Given the description of an element on the screen output the (x, y) to click on. 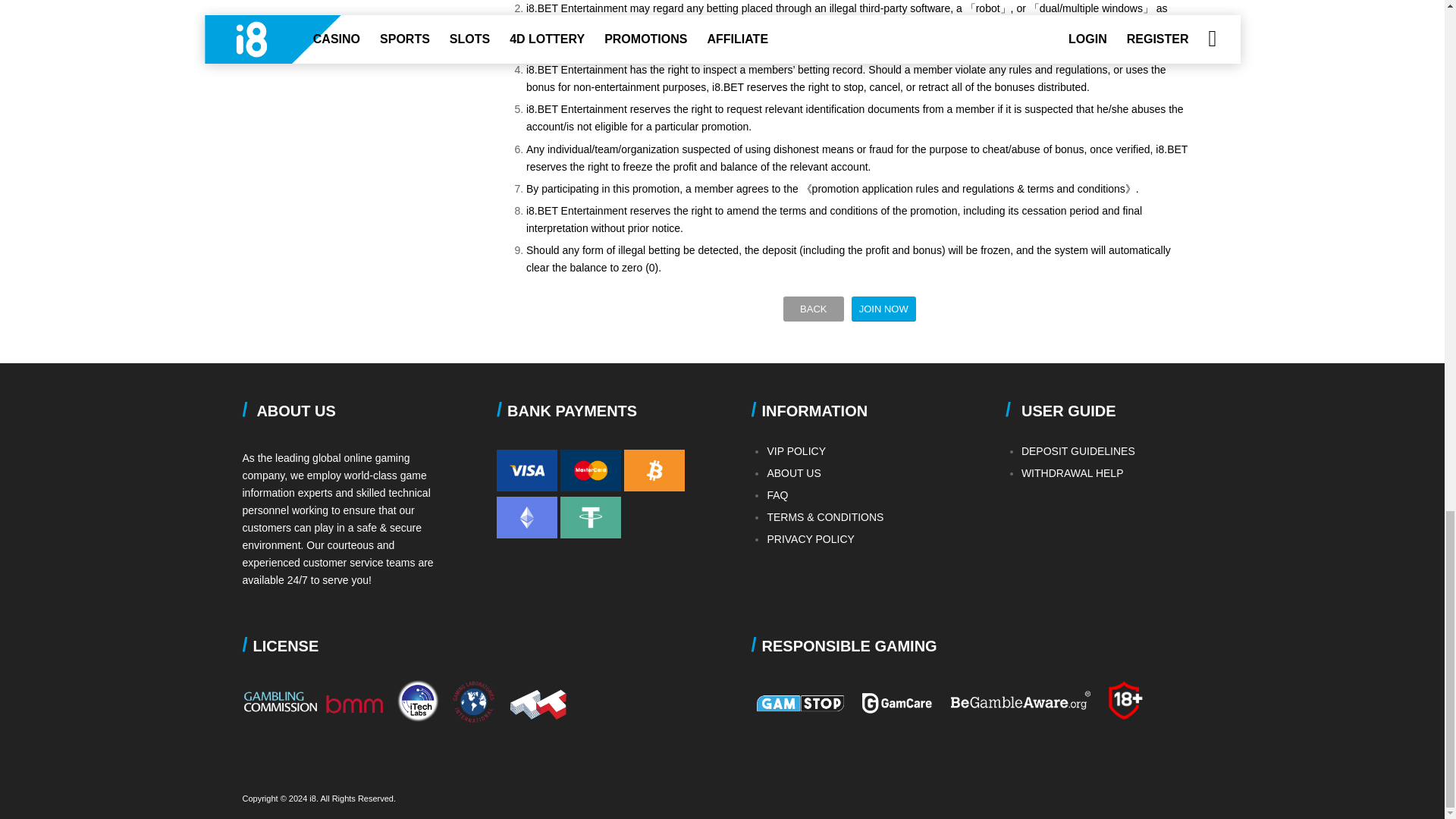
VIP POLICY (796, 451)
JOIN NOW (883, 308)
FAQ (777, 494)
WITHDRAWAL HELP (1073, 472)
BACK (813, 308)
ABOUT US (794, 472)
PRIVACY POLICY (810, 539)
DEPOSIT GUIDELINES (1078, 451)
